Given the description of an element on the screen output the (x, y) to click on. 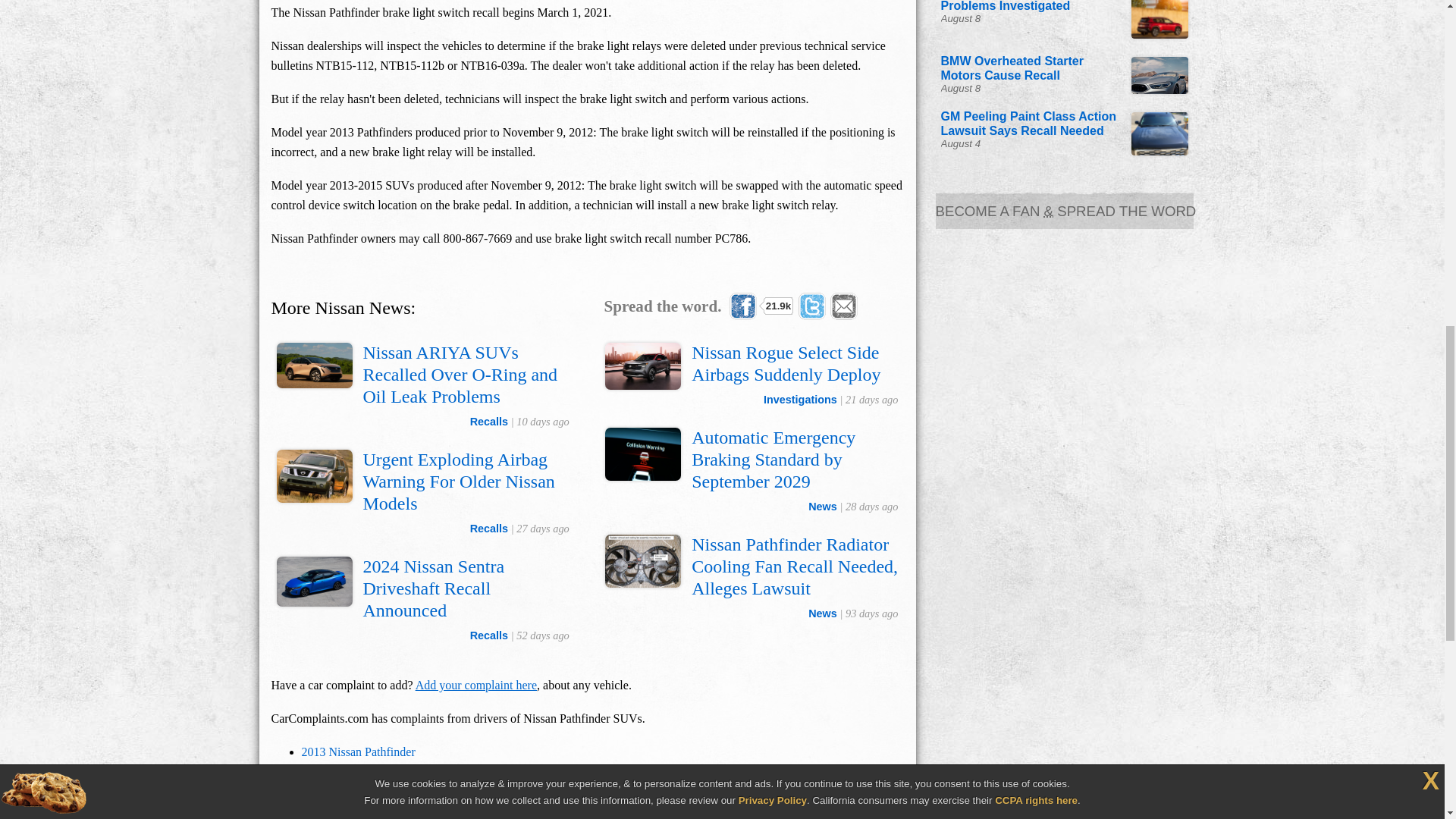
21.9k (761, 306)
Recalls (489, 421)
News (822, 506)
Recalls (489, 528)
Automatic Emergency Braking Standard by September 2029 (773, 459)
Investigations (799, 399)
Recalls (489, 635)
Email this page (843, 306)
Nissan ARIYA SUVs Recalled Over O-Ring and Oil Leak Problems (459, 374)
Share on Facebook (761, 306)
